Given the description of an element on the screen output the (x, y) to click on. 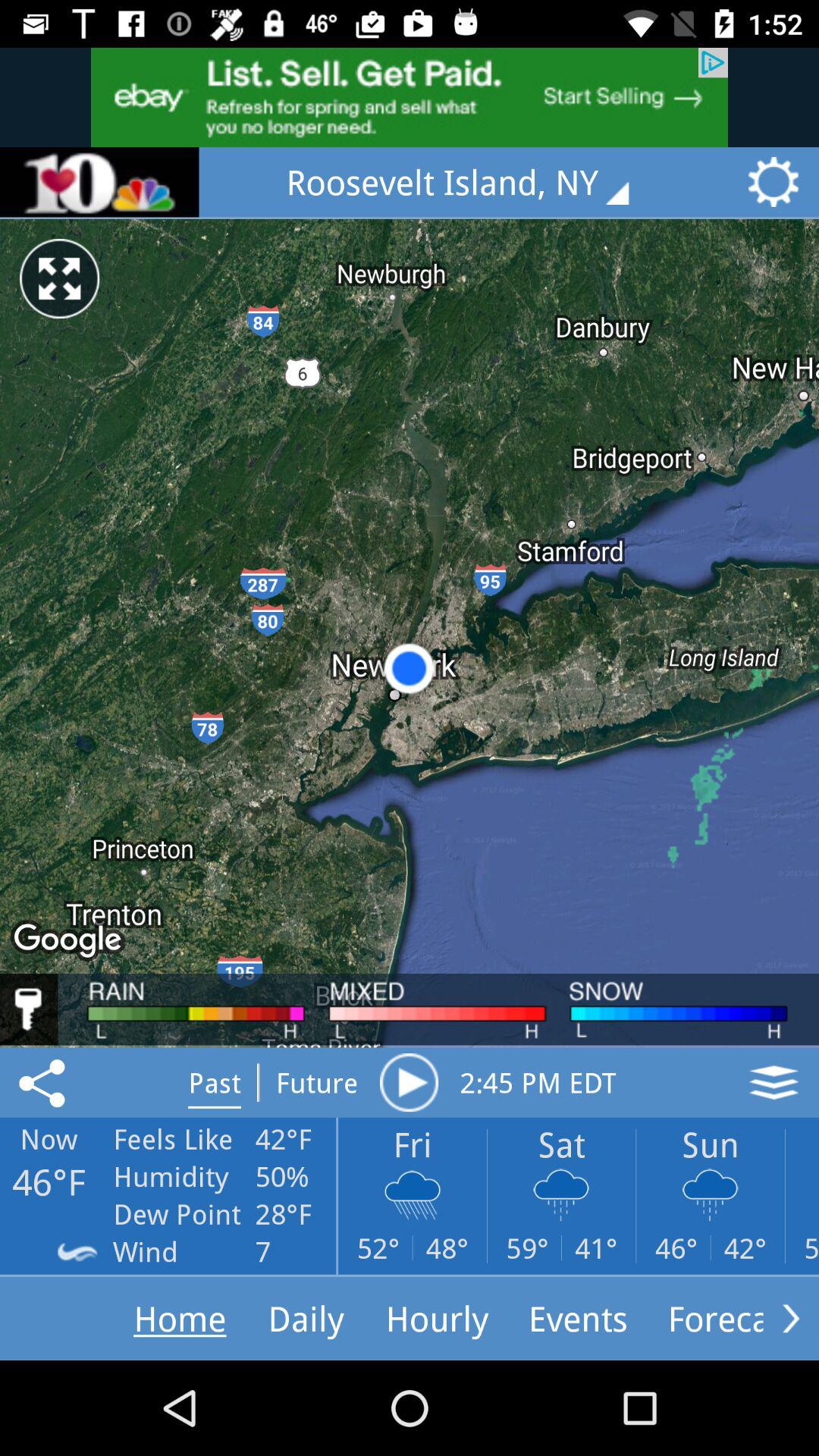
click on the button which is next to the hourly (577, 1317)
